Given the description of an element on the screen output the (x, y) to click on. 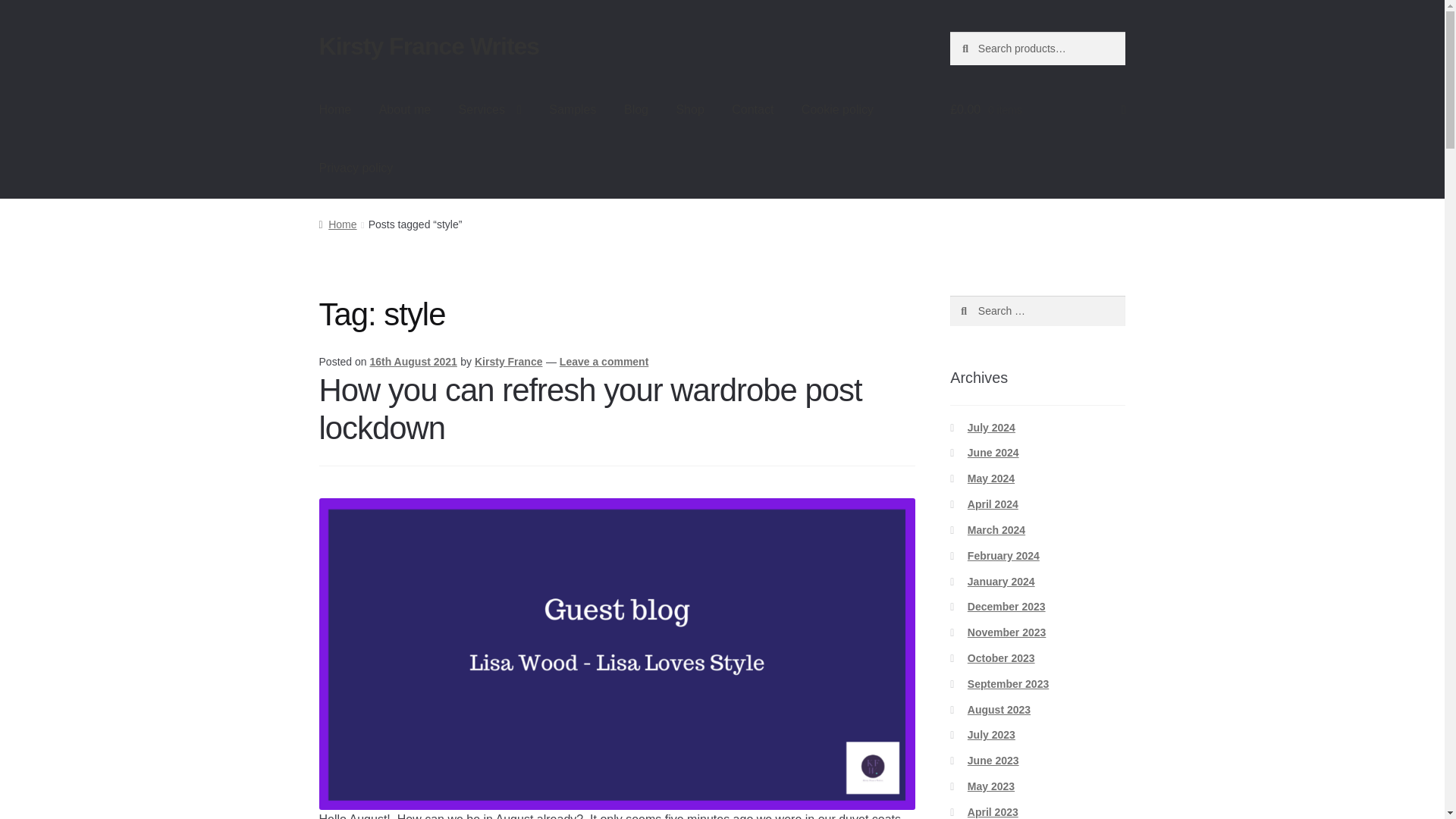
About me (404, 109)
Home (337, 224)
Cookie policy (837, 109)
Services (490, 109)
View your shopping basket (1037, 109)
How you can refresh your wardrobe post lockdown (589, 409)
Samples (572, 109)
Home (335, 109)
Privacy policy (356, 168)
16th August 2021 (413, 361)
Leave a comment (604, 361)
Contact (752, 109)
